Given the description of an element on the screen output the (x, y) to click on. 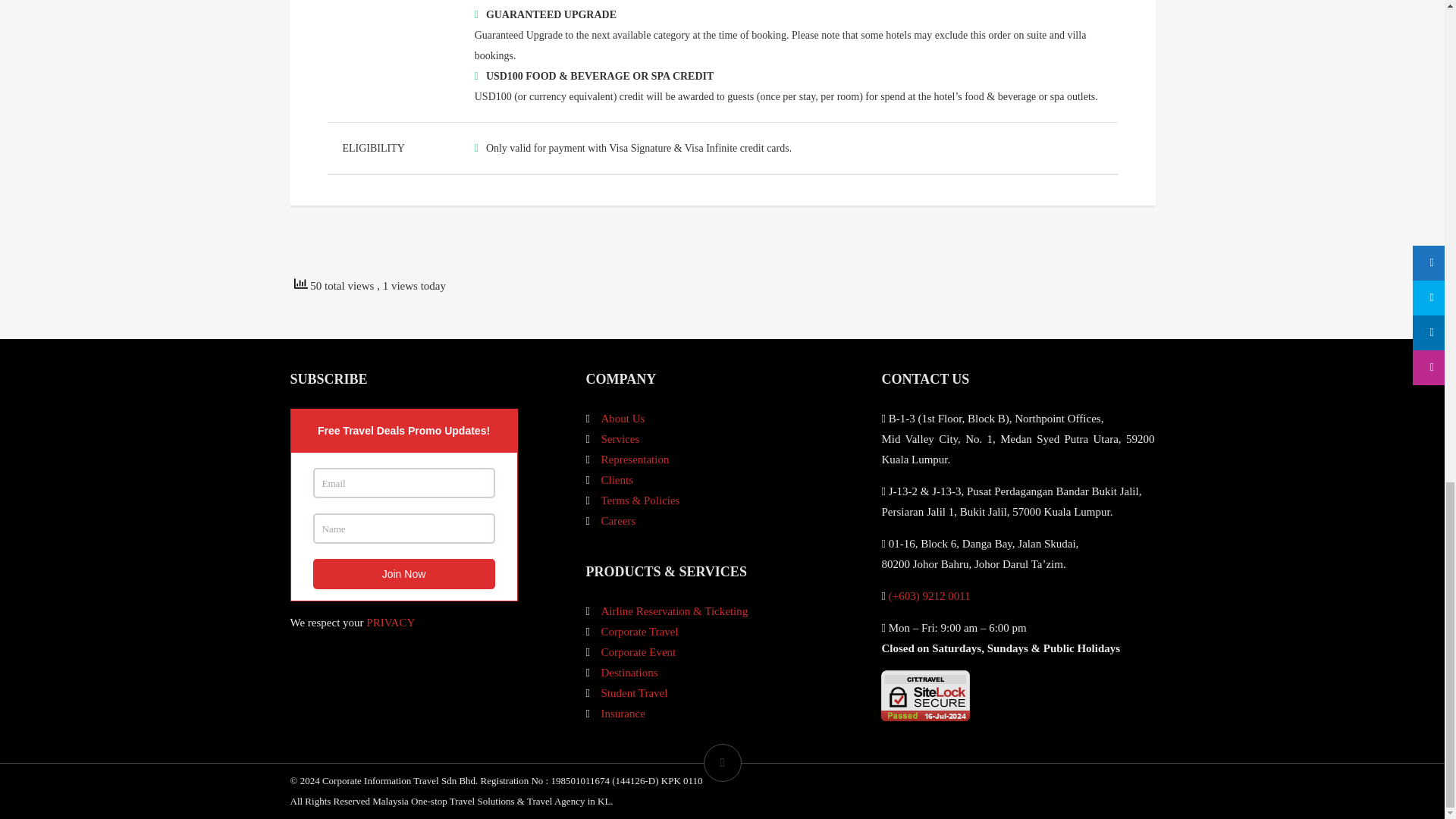
SiteLock (924, 695)
Join Now (404, 573)
